Given the description of an element on the screen output the (x, y) to click on. 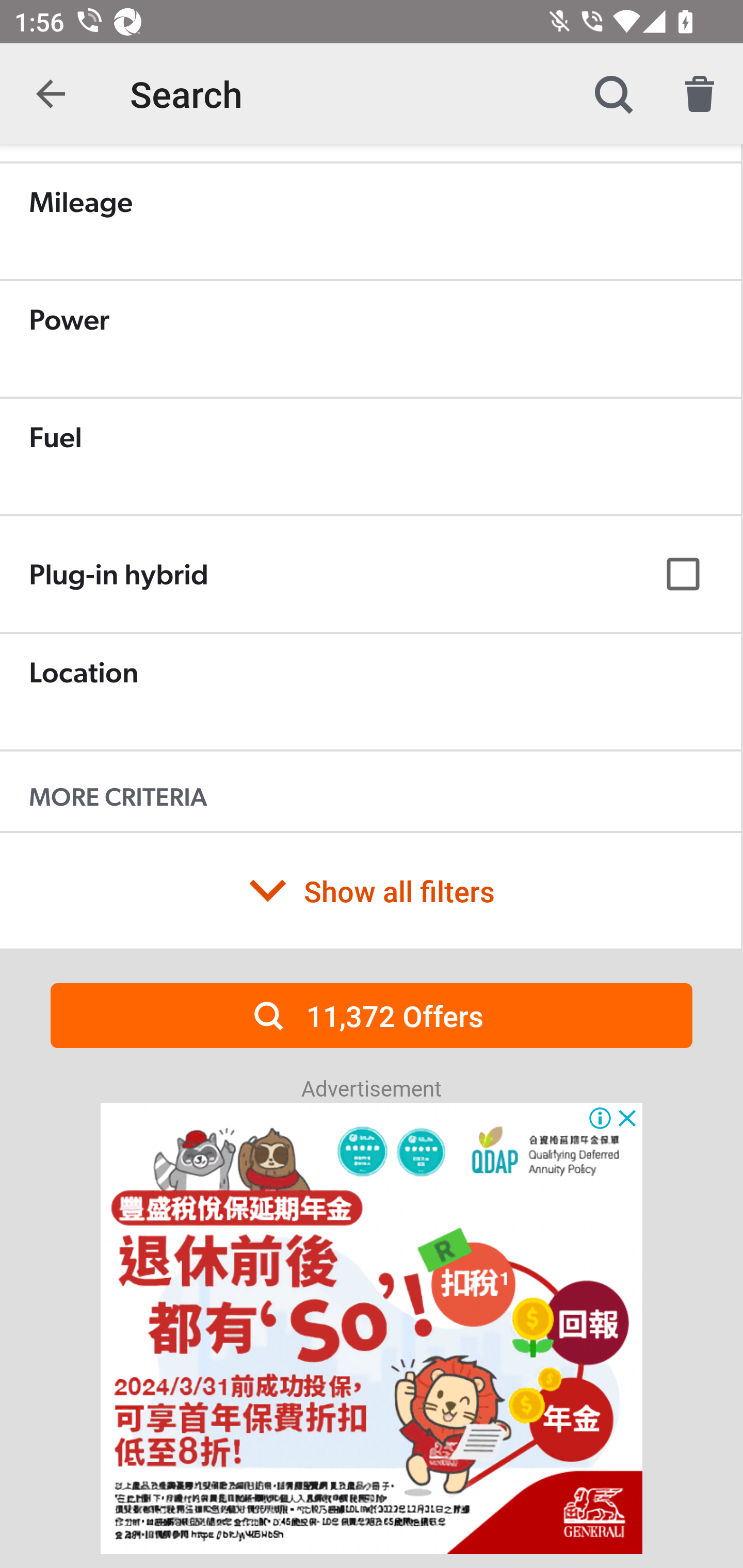
Navigate up (50, 93)
Search (612, 93)
Reset search (699, 93)
Mileage (370, 221)
Power (370, 338)
Fuel (370, 456)
Plug-in hybrid (370, 573)
Plug-in hybrid (369, 574)
Location (370, 691)
Show all filters (370, 890)
11,372 Offers (371, 1015)
